Given the description of an element on the screen output the (x, y) to click on. 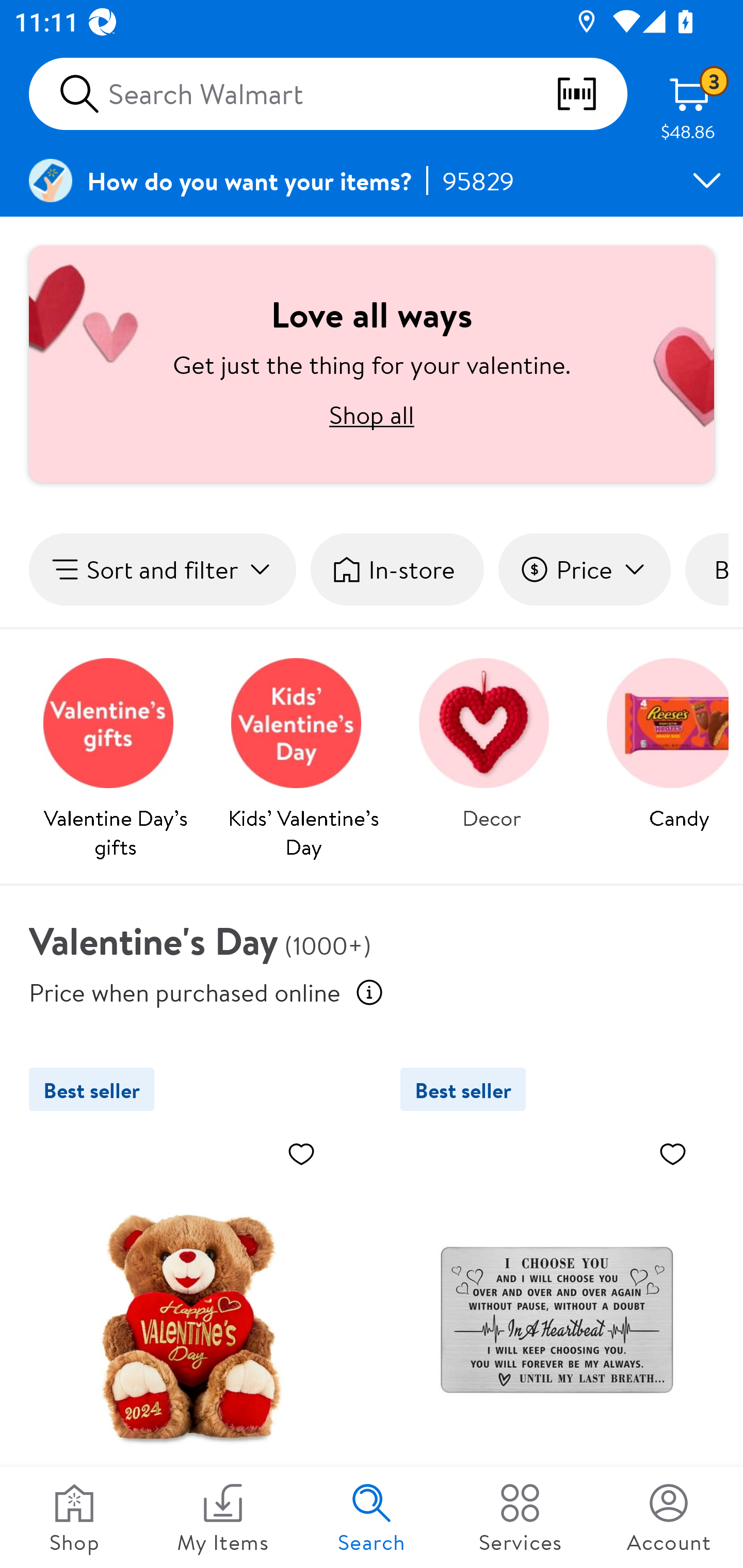
Search Walmart scan barcodes qr codes and more (327, 94)
scan barcodes qr codes and more (591, 94)
Shop all (371, 413)
Search by Decor Decor (491, 738)
Search by Candy Candy (660, 738)
Price when purchased online (184, 991)
Price when purchased online (369, 992)
Shop (74, 1517)
My Items (222, 1517)
Services (519, 1517)
Account (668, 1517)
